Given the description of an element on the screen output the (x, y) to click on. 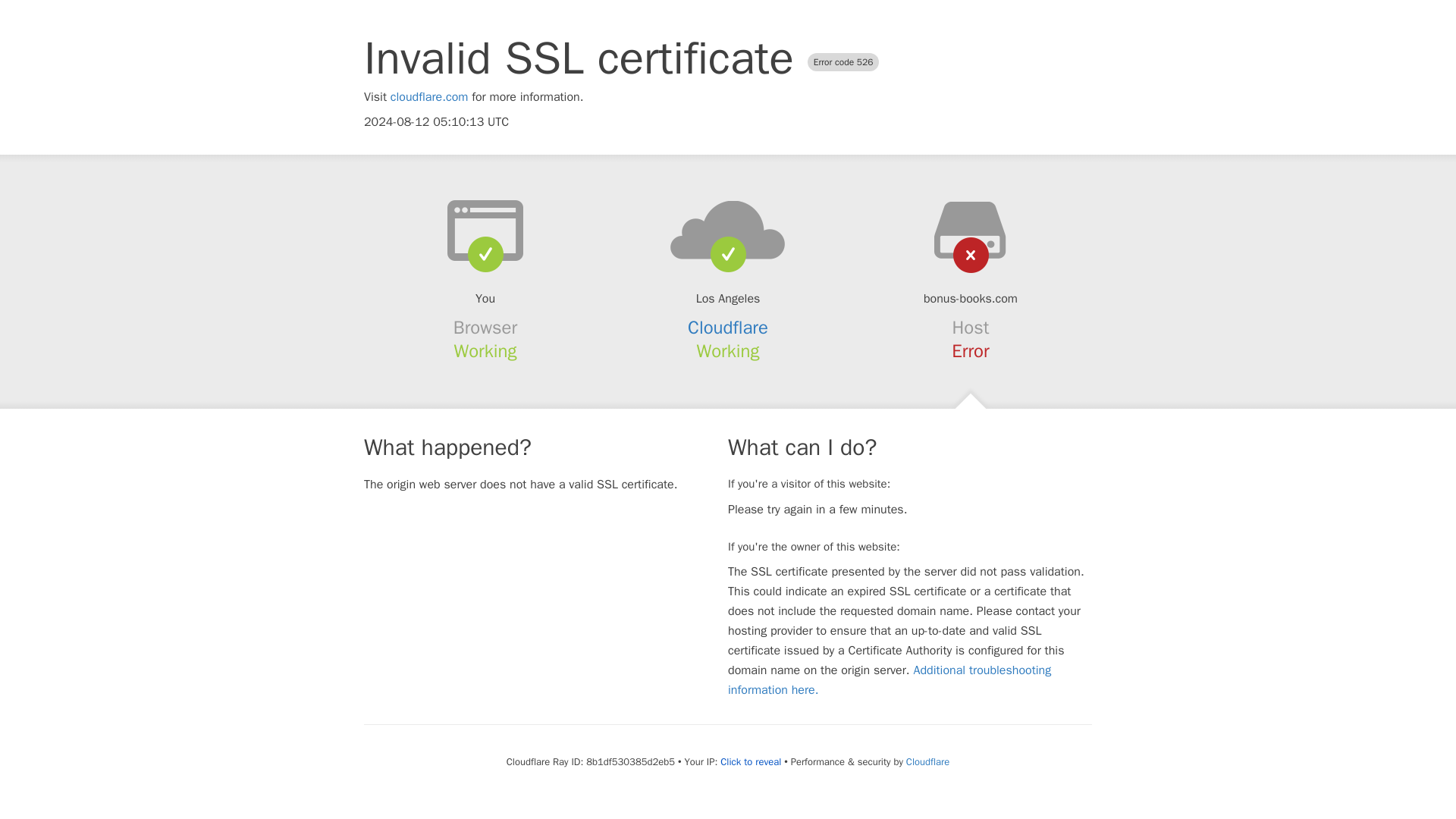
Additional troubleshooting information here. (889, 679)
Cloudflare (727, 327)
Cloudflare (927, 761)
Click to reveal (750, 762)
cloudflare.com (429, 96)
